Given the description of an element on the screen output the (x, y) to click on. 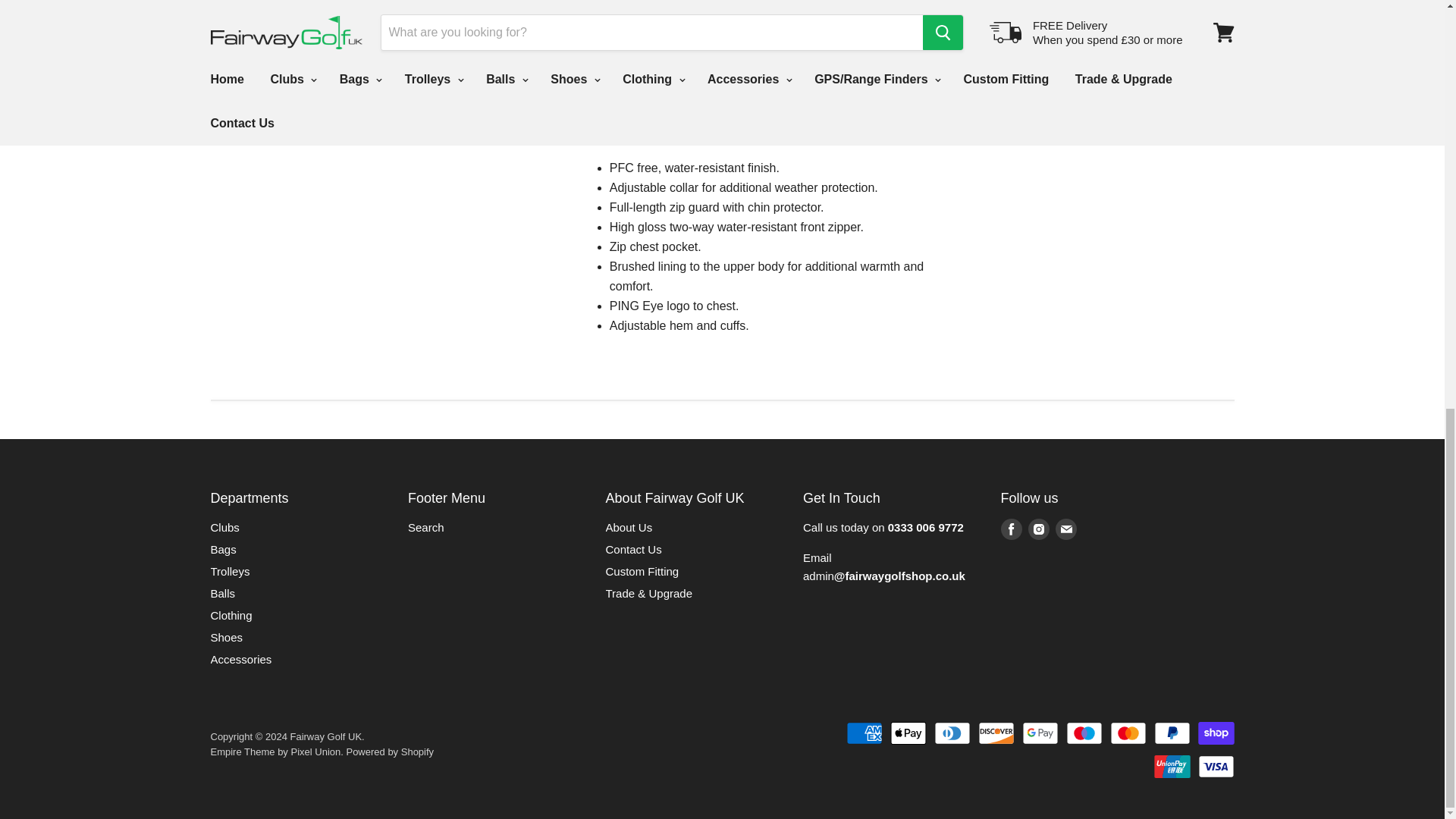
Facebook (1011, 528)
Instagram (1038, 528)
E-mail (1066, 528)
